Given the description of an element on the screen output the (x, y) to click on. 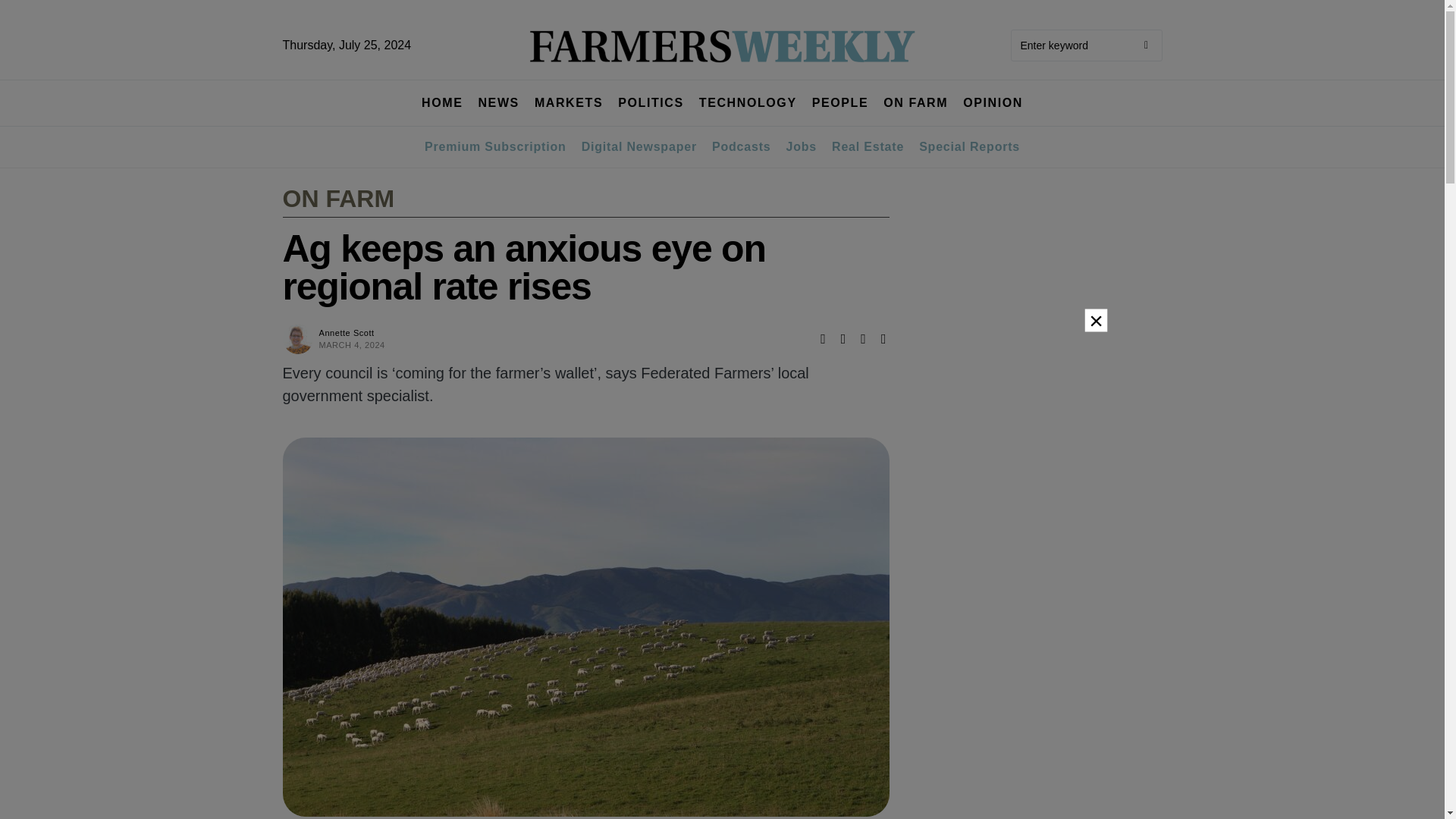
OPINION (992, 103)
MARKETS (568, 103)
ON FARM (915, 103)
NEWS (497, 103)
HOME (442, 103)
TECHNOLOGY (747, 103)
PEOPLE (840, 103)
POLITICS (650, 103)
